Given the description of an element on the screen output the (x, y) to click on. 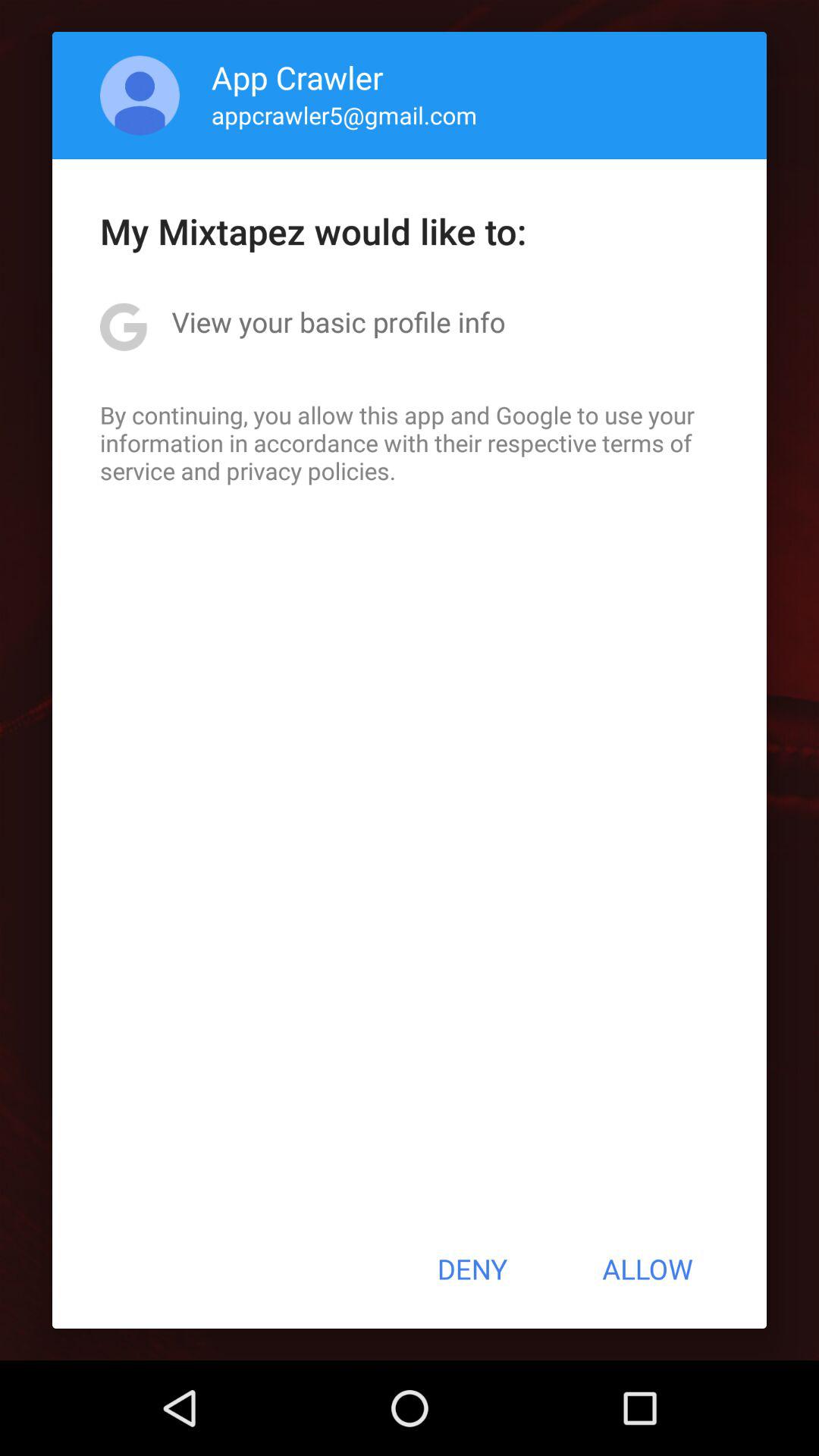
turn on the appcrawler5@gmail.com app (344, 114)
